Given the description of an element on the screen output the (x, y) to click on. 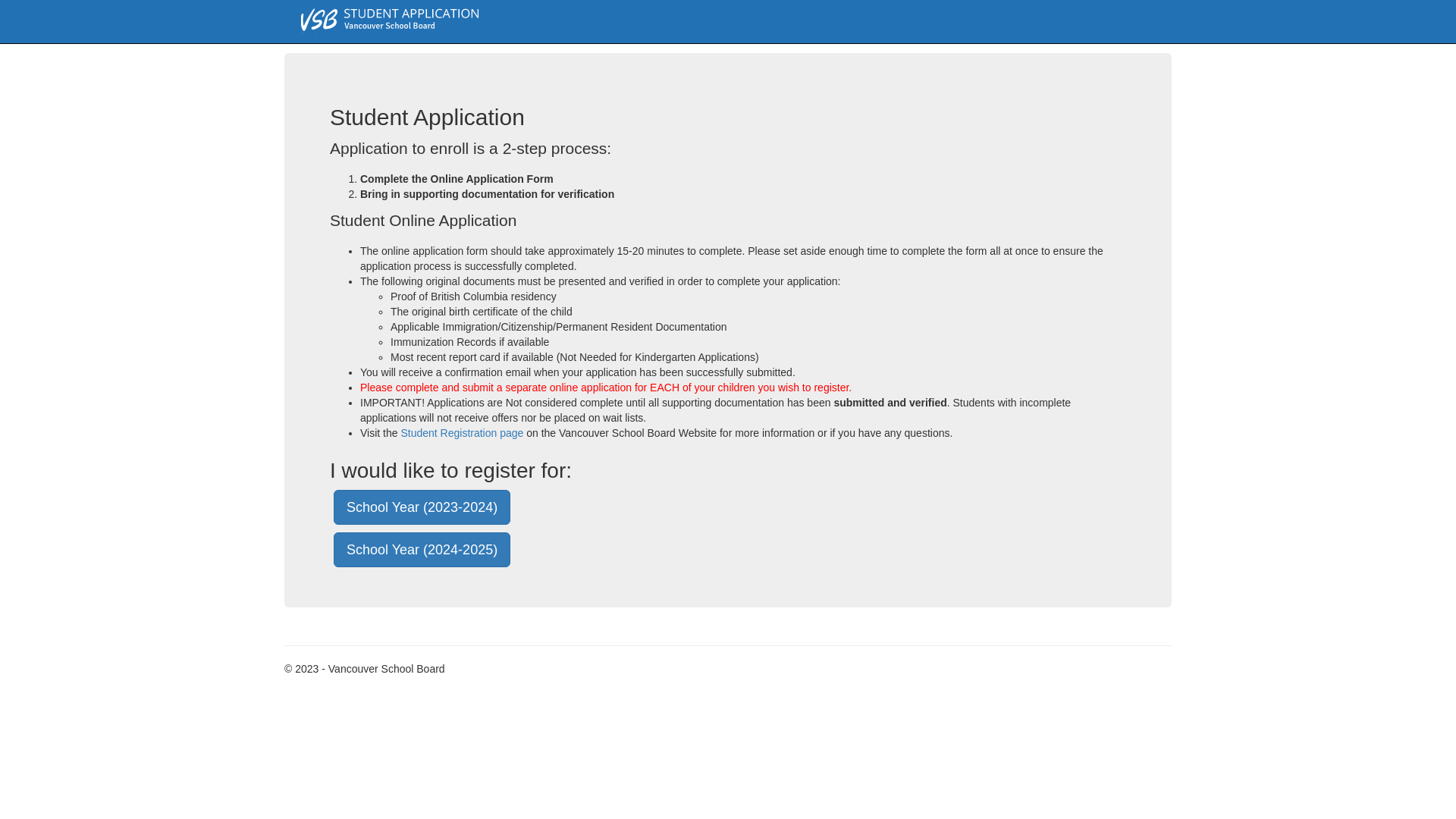
Student Registration page Element type: text (461, 432)
School Year (2024-2025) Element type: text (421, 549)
School Year (2023-2024) Element type: text (421, 506)
